Given the description of an element on the screen output the (x, y) to click on. 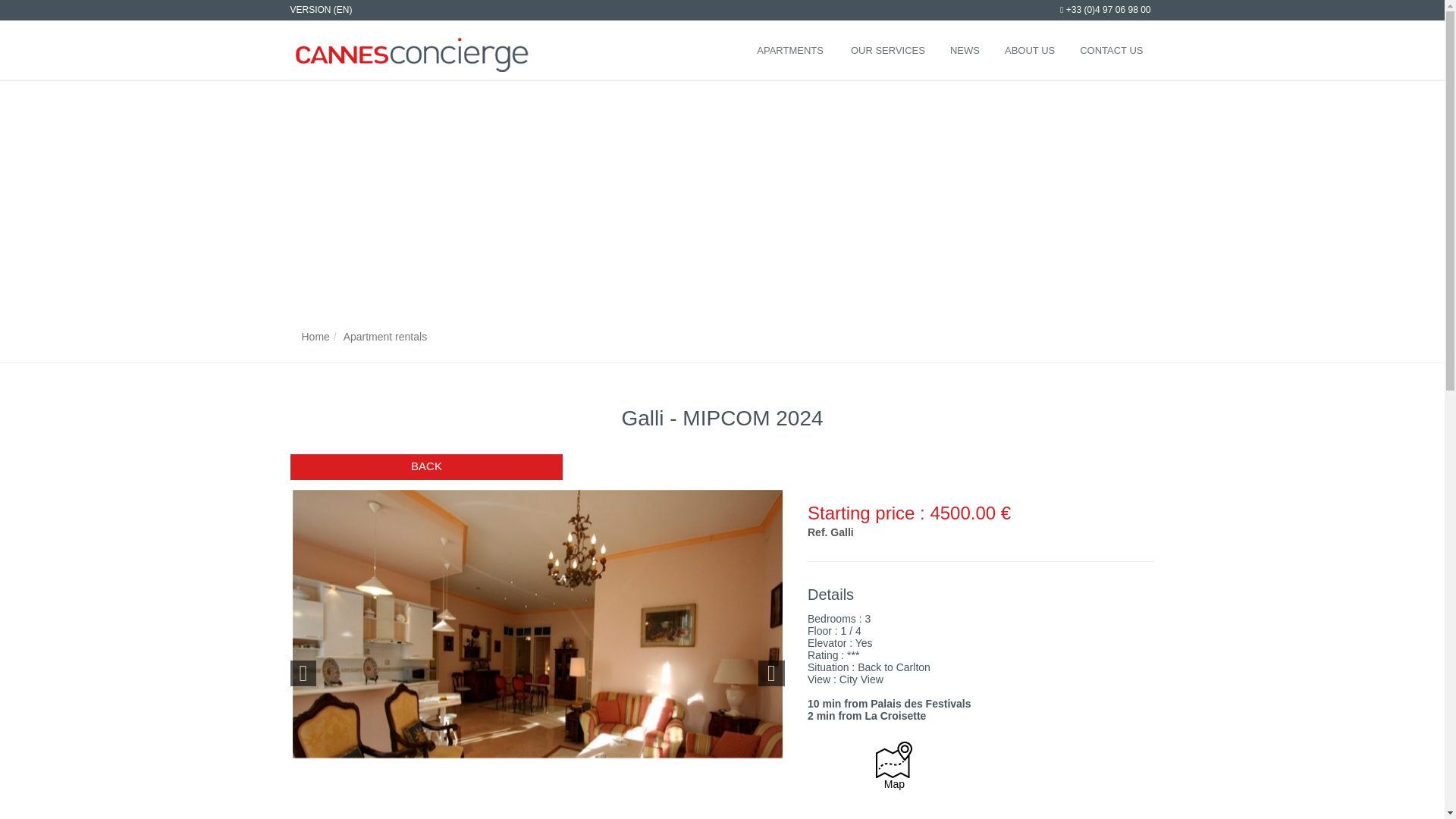
OUR SERVICES (886, 49)
Home (315, 336)
Apartment rentals (385, 336)
ABOUT US (1028, 49)
Contact us (1109, 49)
BACK (425, 466)
Return to real estate list (425, 466)
About us (1028, 49)
NEWS (963, 49)
Map (894, 771)
APARTMENTS (789, 49)
CONTACT US (1109, 49)
Apartment rentals (385, 336)
News (963, 49)
Our services (886, 49)
